Given the description of an element on the screen output the (x, y) to click on. 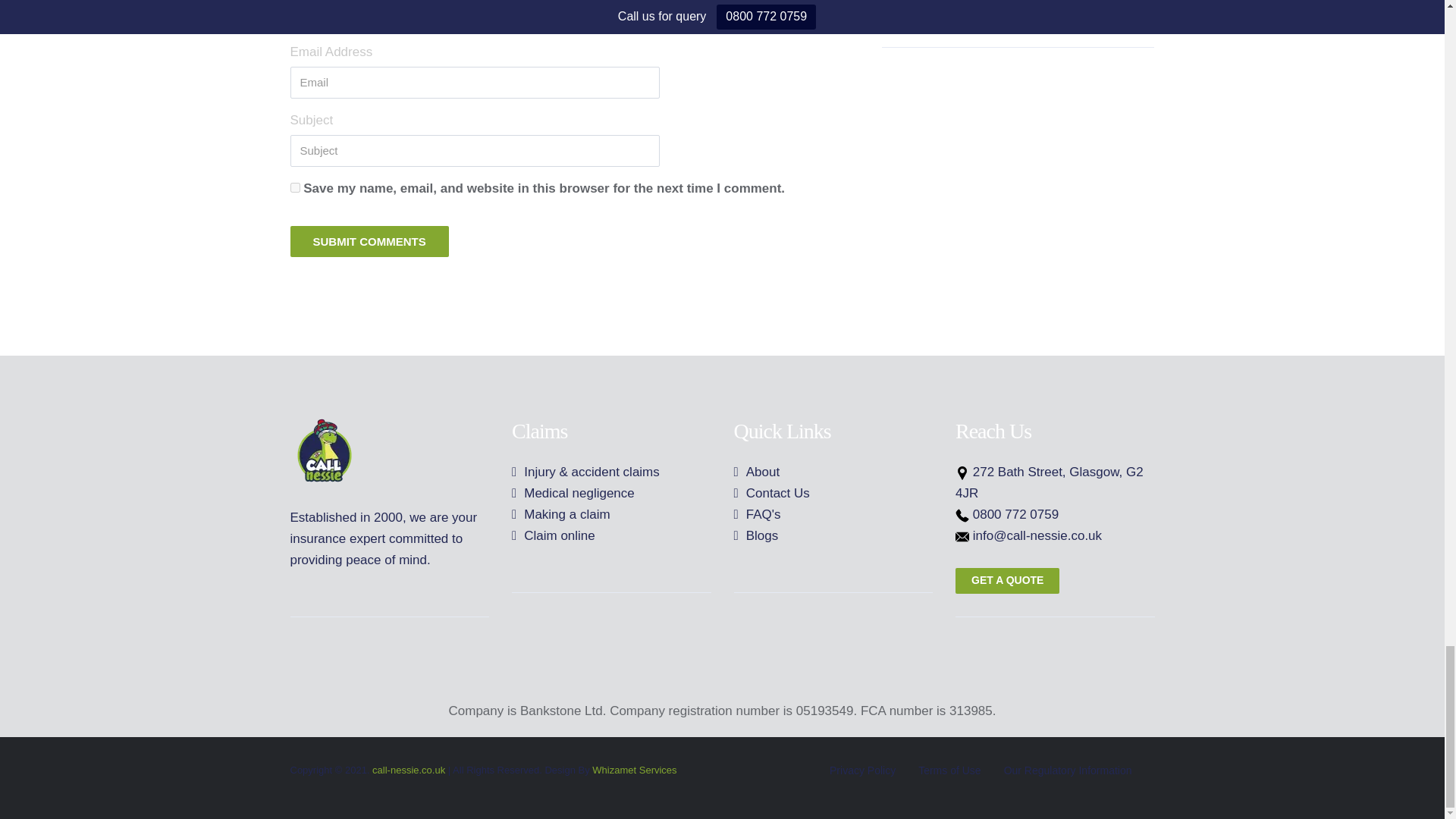
Submit Comments (368, 241)
yes (294, 187)
